Given the description of an element on the screen output the (x, y) to click on. 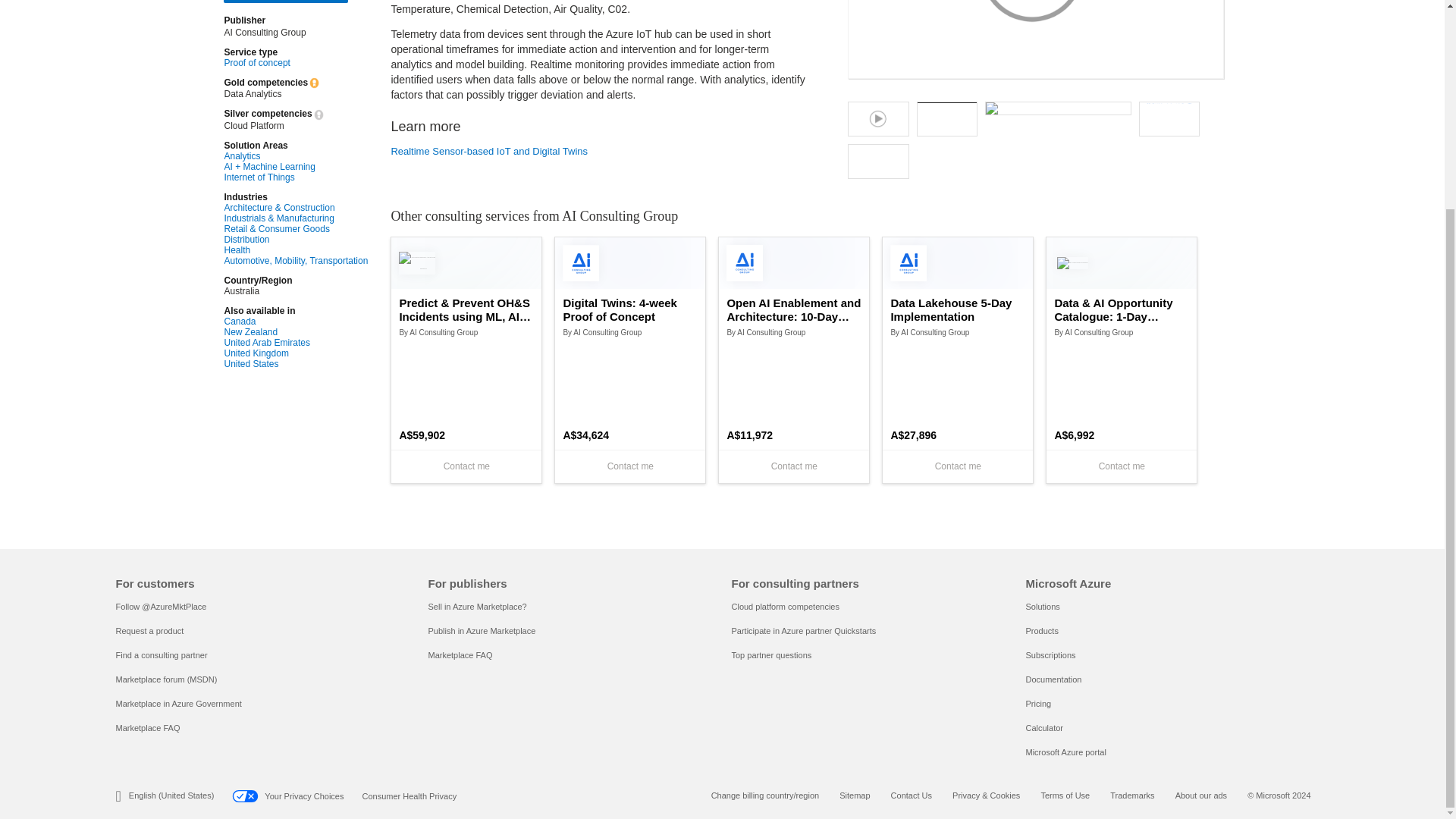
Open AI Enablement and Architecture: 10-Day PoC (793, 309)
Digital Twins: 4-week Proof of Concept (629, 309)
Data Lakehouse 5-Day Implementation (957, 309)
